Given the description of an element on the screen output the (x, y) to click on. 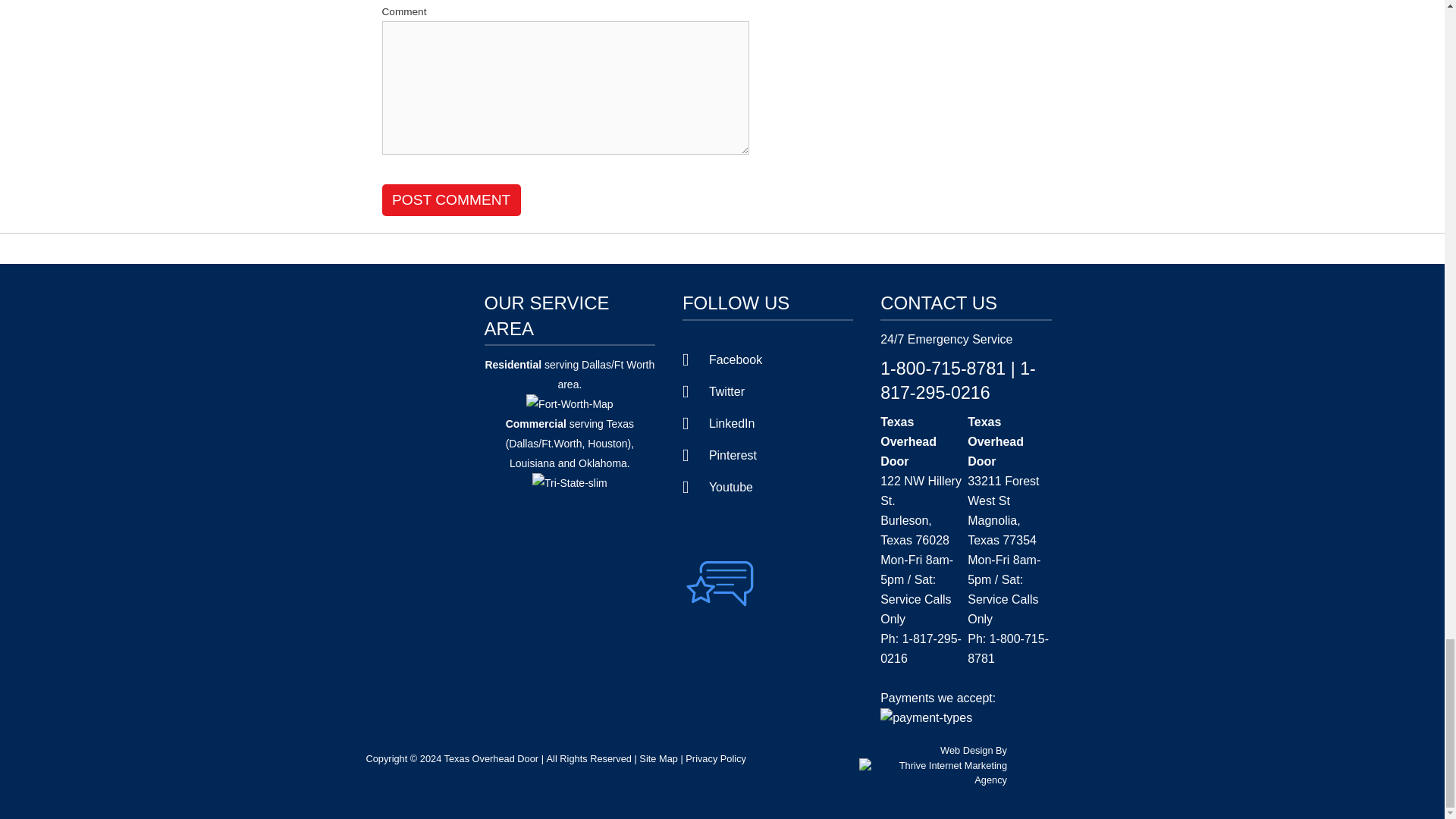
Residential - Areas We Serve (512, 364)
Post Comment (451, 200)
Commercial - Areas We Serve (535, 423)
